Given the description of an element on the screen output the (x, y) to click on. 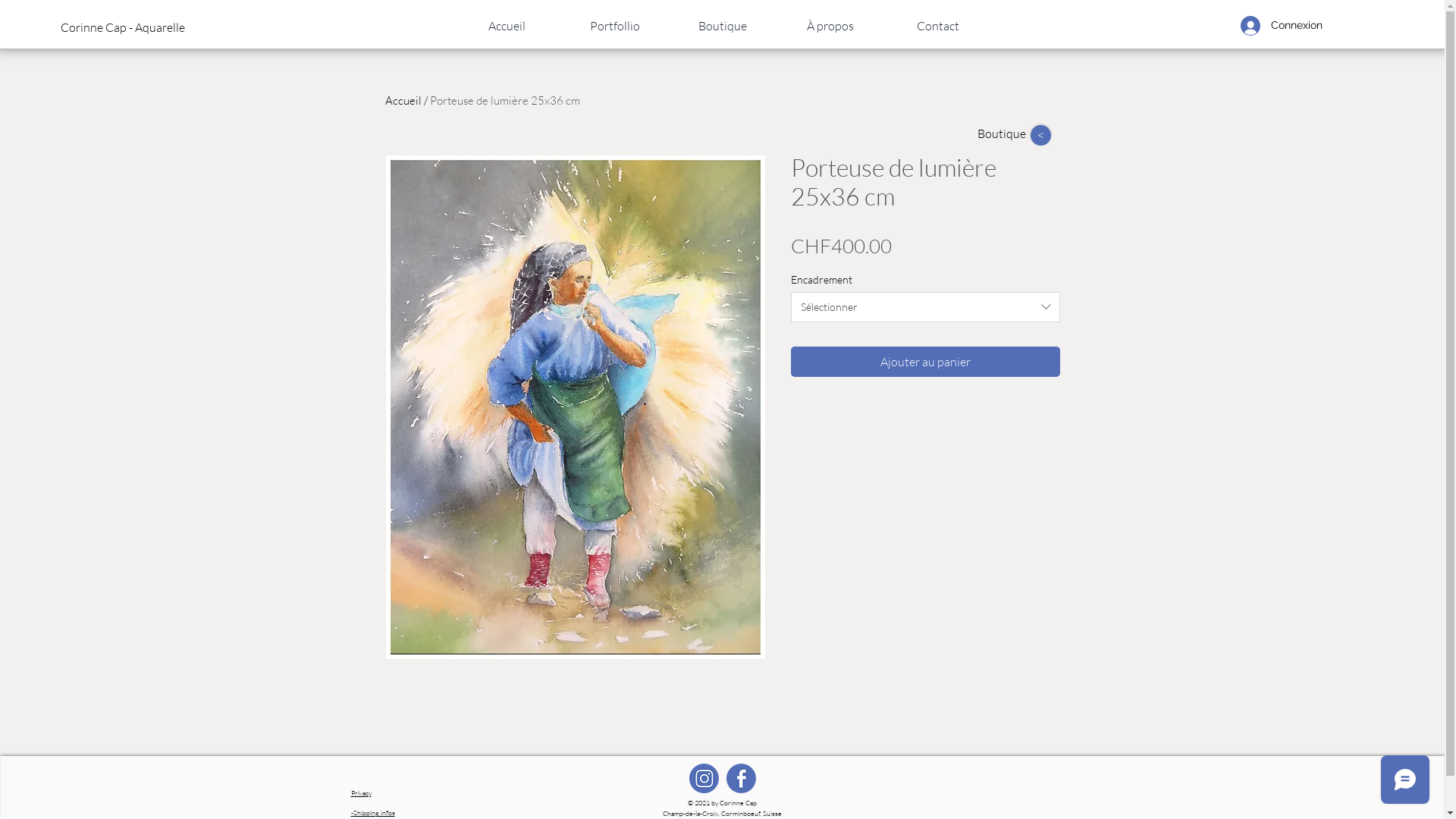
Accueil Element type: text (403, 100)
> Element type: text (1039, 135)
Privacy Element type: text (360, 792)
Ajouter au panier Element type: text (924, 361)
Portfollio Element type: text (614, 26)
Boutique Element type: text (722, 26)
Accueil Element type: text (506, 26)
Connexion Element type: text (1281, 25)
-Shipping infos Element type: text (372, 811)
Contact Element type: text (937, 26)
